Given the description of an element on the screen output the (x, y) to click on. 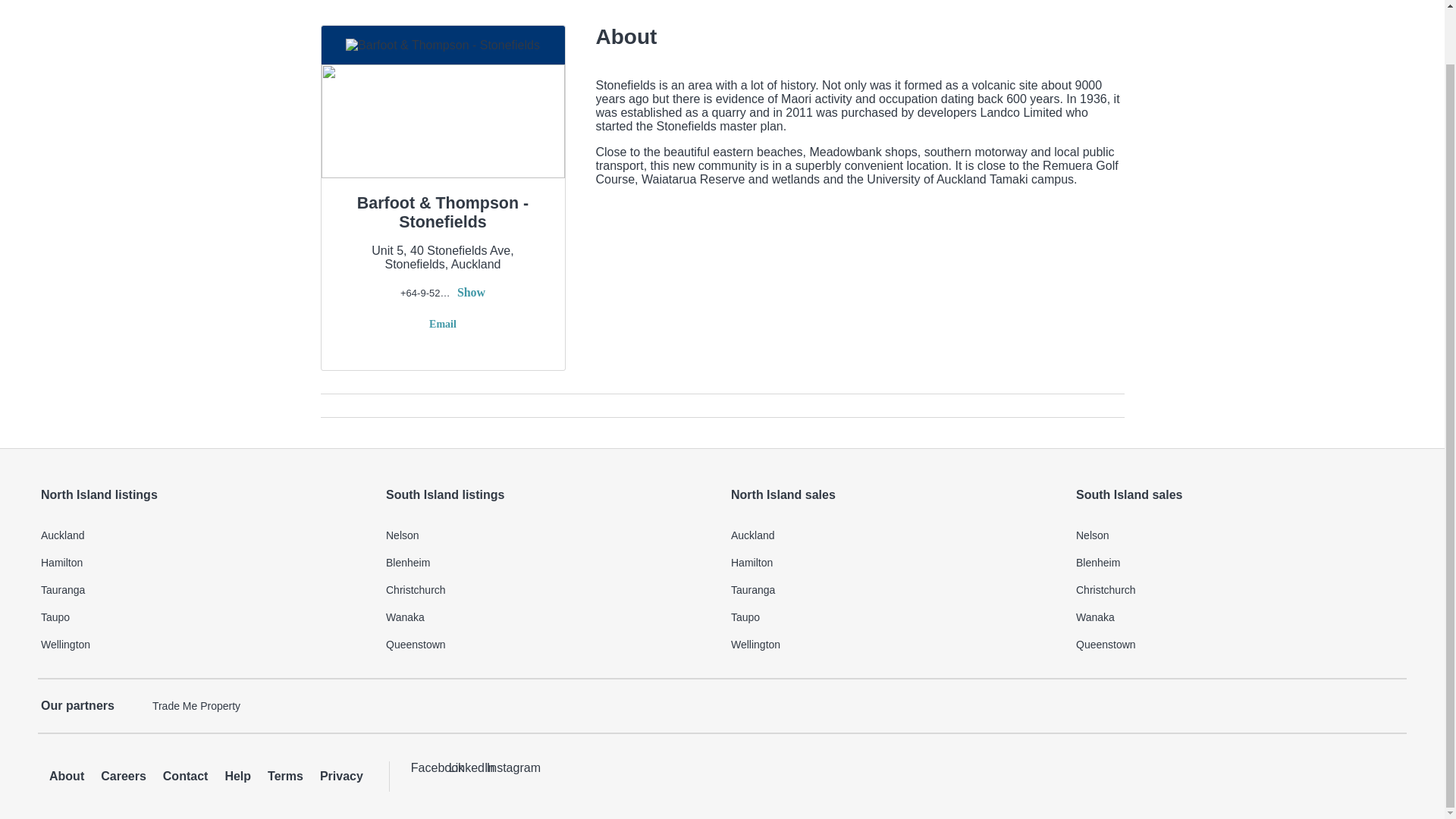
Blenheim (1239, 562)
Wanaka (549, 616)
Privacy (341, 775)
Taupo (894, 616)
Facebook (425, 776)
Wellington (204, 644)
Taupo (204, 616)
Wellington (894, 644)
Careers (123, 775)
Queenstown (1239, 644)
